Given the description of an element on the screen output the (x, y) to click on. 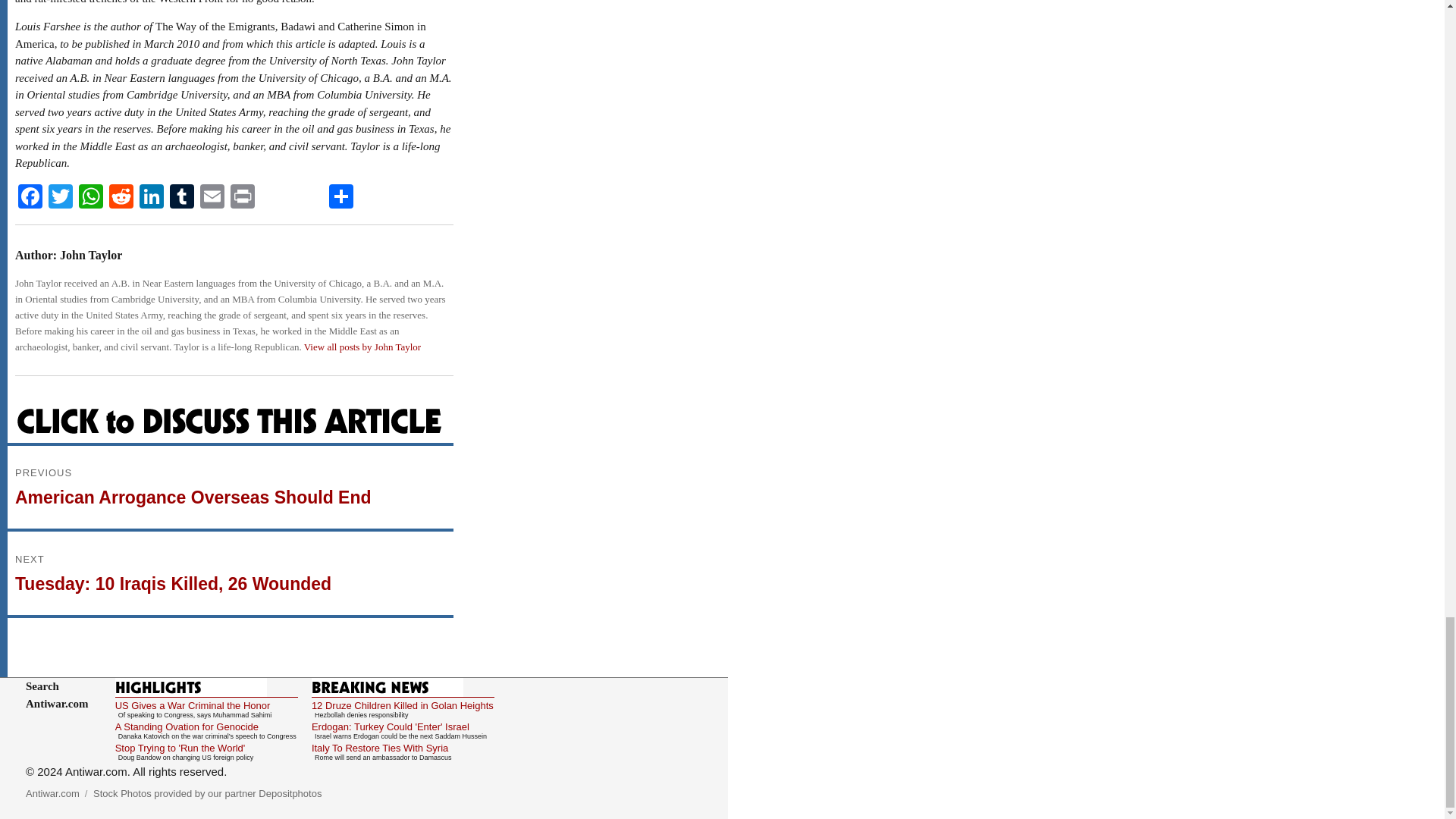
Twitter (60, 198)
Facebook (29, 198)
Twitter (60, 198)
Print (242, 198)
Share (341, 198)
Reddit (121, 198)
Email (211, 198)
Tumblr (181, 198)
Email (211, 198)
LinkedIn (151, 198)
WhatsApp (90, 198)
LinkedIn (151, 198)
View all posts by John Taylor (362, 346)
Print (242, 198)
